Given the description of an element on the screen output the (x, y) to click on. 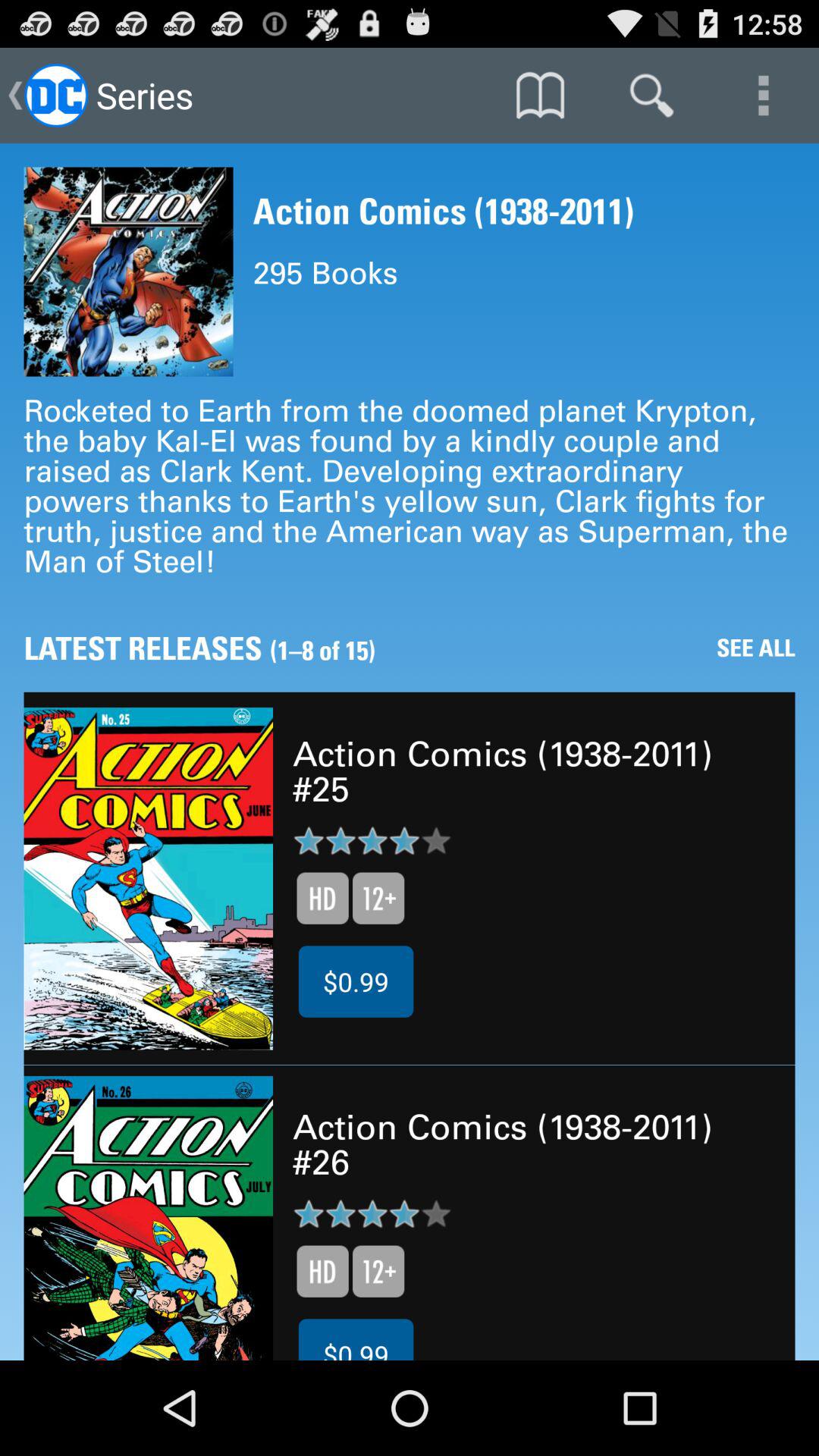
choose item above action comics 1938 (651, 95)
